Given the description of an element on the screen output the (x, y) to click on. 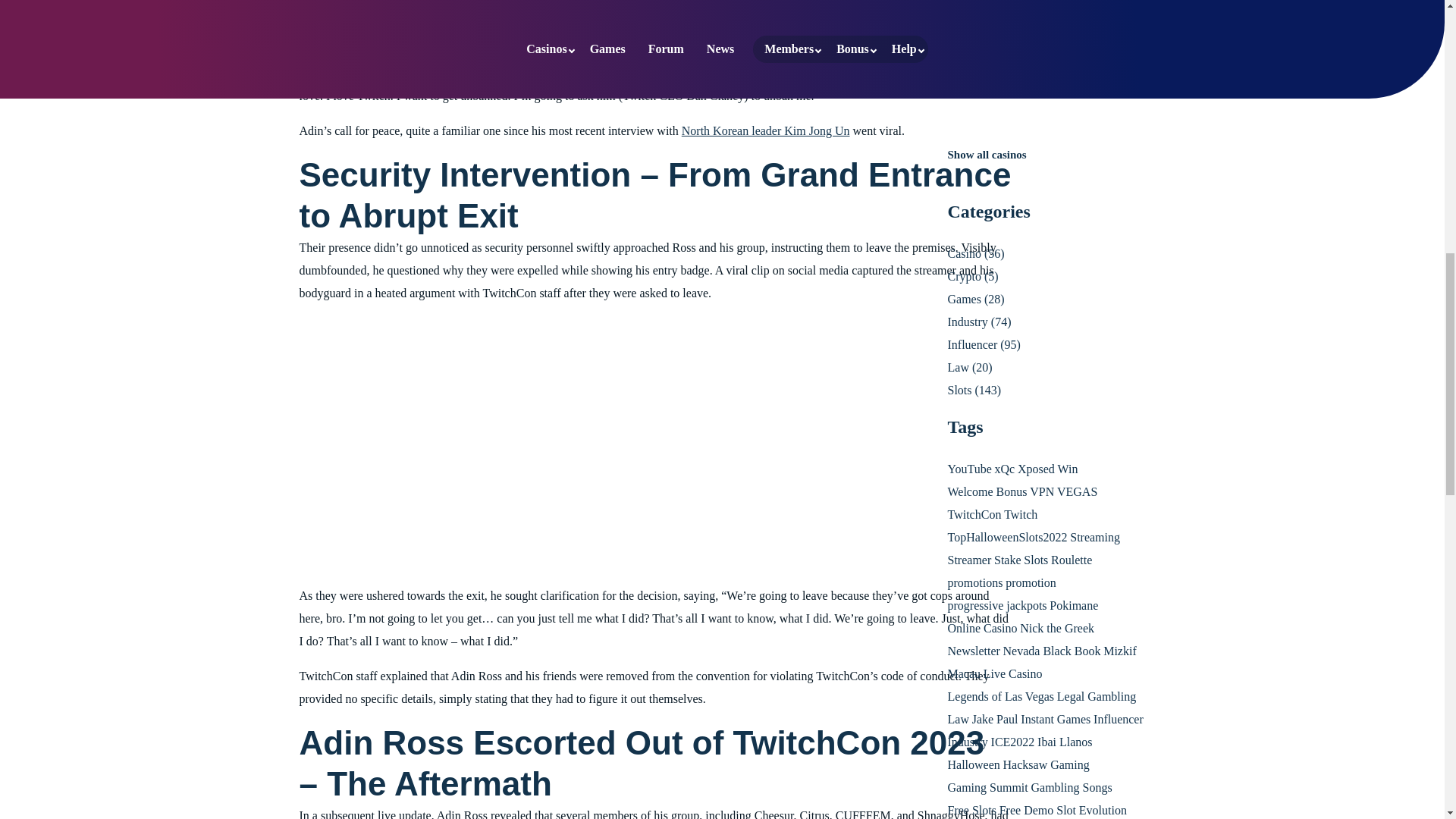
Adin Ross Gets KICKED OUT Of TwitchCon (488, 422)
